Given the description of an element on the screen output the (x, y) to click on. 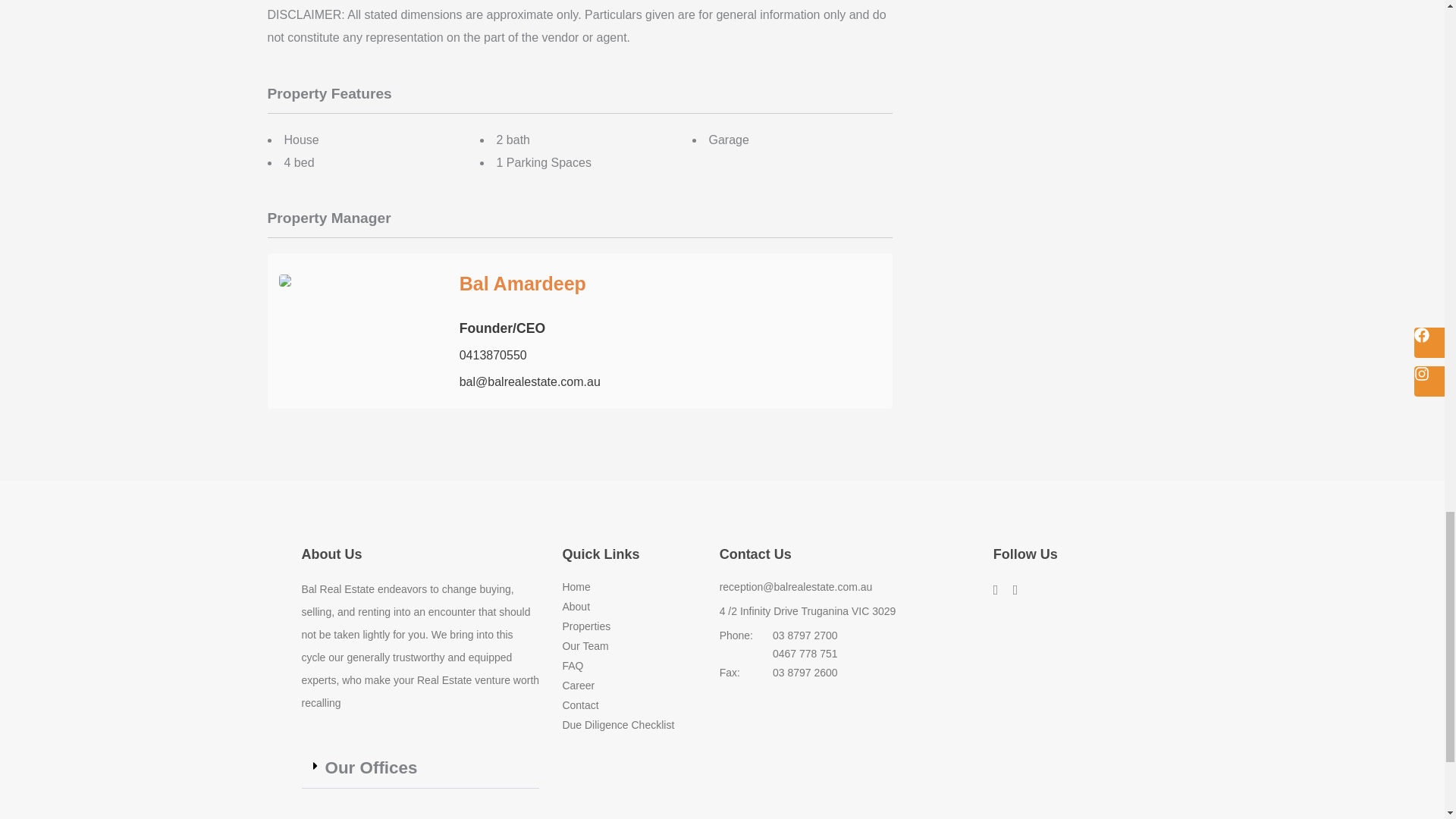
Properties (628, 627)
Our Offices (370, 767)
About (628, 607)
Home (628, 587)
Bal Amardeep (523, 283)
0413870550 (493, 354)
